Given the description of an element on the screen output the (x, y) to click on. 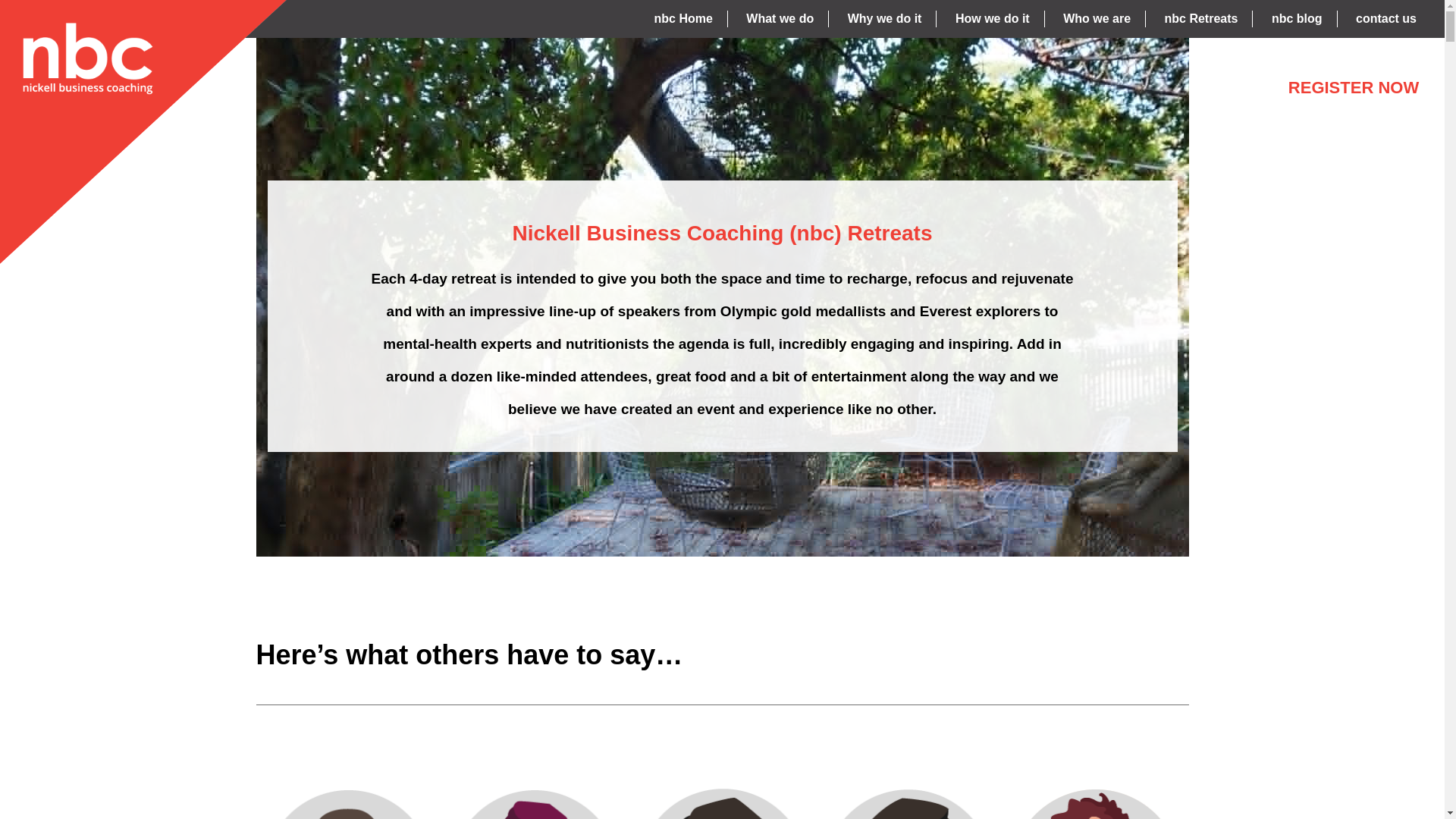
contact us Element type: text (1385, 18)
Why we do it Element type: text (884, 18)
nbc Retreats Element type: text (143, 132)
nbc Retreats Element type: text (1201, 18)
What we do Element type: text (779, 18)
nbc Home Element type: text (683, 18)
Who we are Element type: text (1096, 18)
Skip to primary navigation Element type: text (0, 0)
REGISTER NOW Element type: text (1353, 87)
How we do it Element type: text (992, 18)
nbc blog Element type: text (1296, 18)
